Given the description of an element on the screen output the (x, y) to click on. 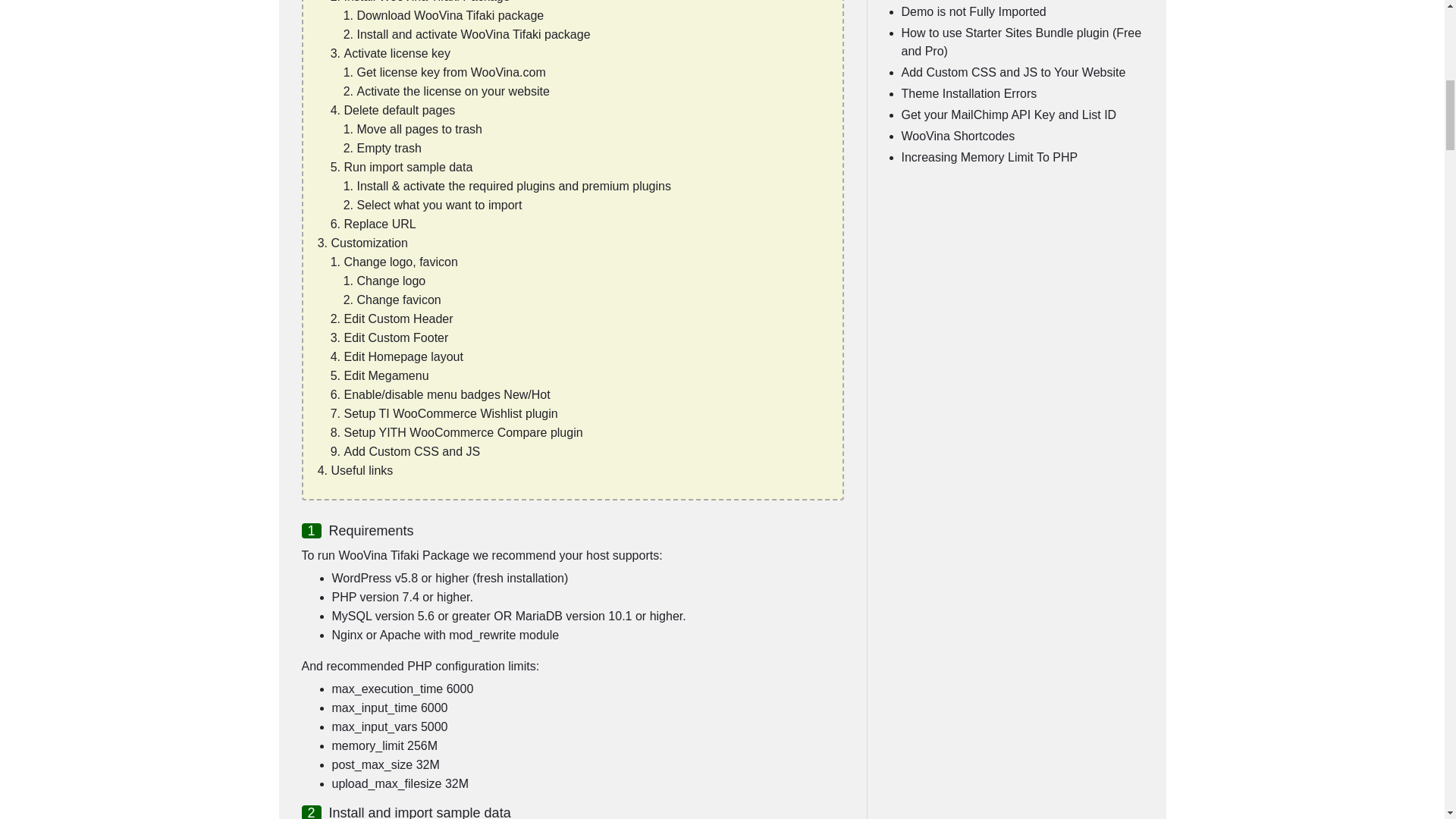
Edit Homepage layout (403, 356)
Get license key from WooVina.com (450, 72)
Edit Custom Header (397, 318)
Empty trash (388, 147)
Change favicon (398, 299)
Delete default pages (399, 110)
Useful links (361, 470)
Customization (368, 242)
Change logo, favicon (400, 261)
Edit Custom Footer (395, 337)
Run import sample data (408, 166)
Setup TI WooCommerce Wishlist plugin (450, 413)
Setup YITH WooCommerce Compare plugin (463, 431)
Move all pages to trash (418, 128)
Select what you want to import (438, 205)
